Given the description of an element on the screen output the (x, y) to click on. 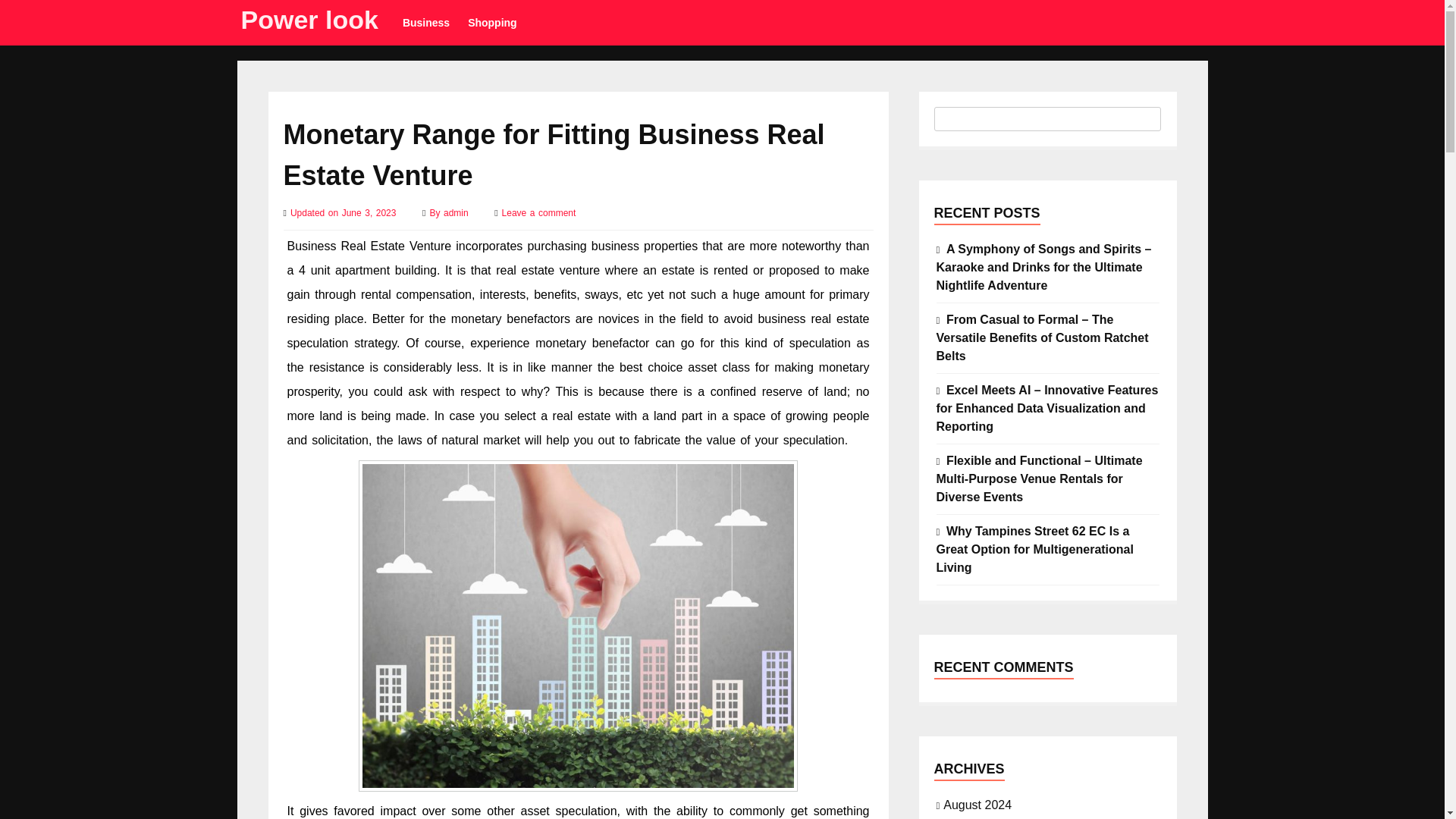
Leave a comment (539, 213)
admin (457, 213)
Shopping (491, 22)
Power look (309, 19)
Business (425, 22)
August 2024 (977, 803)
